Given the description of an element on the screen output the (x, y) to click on. 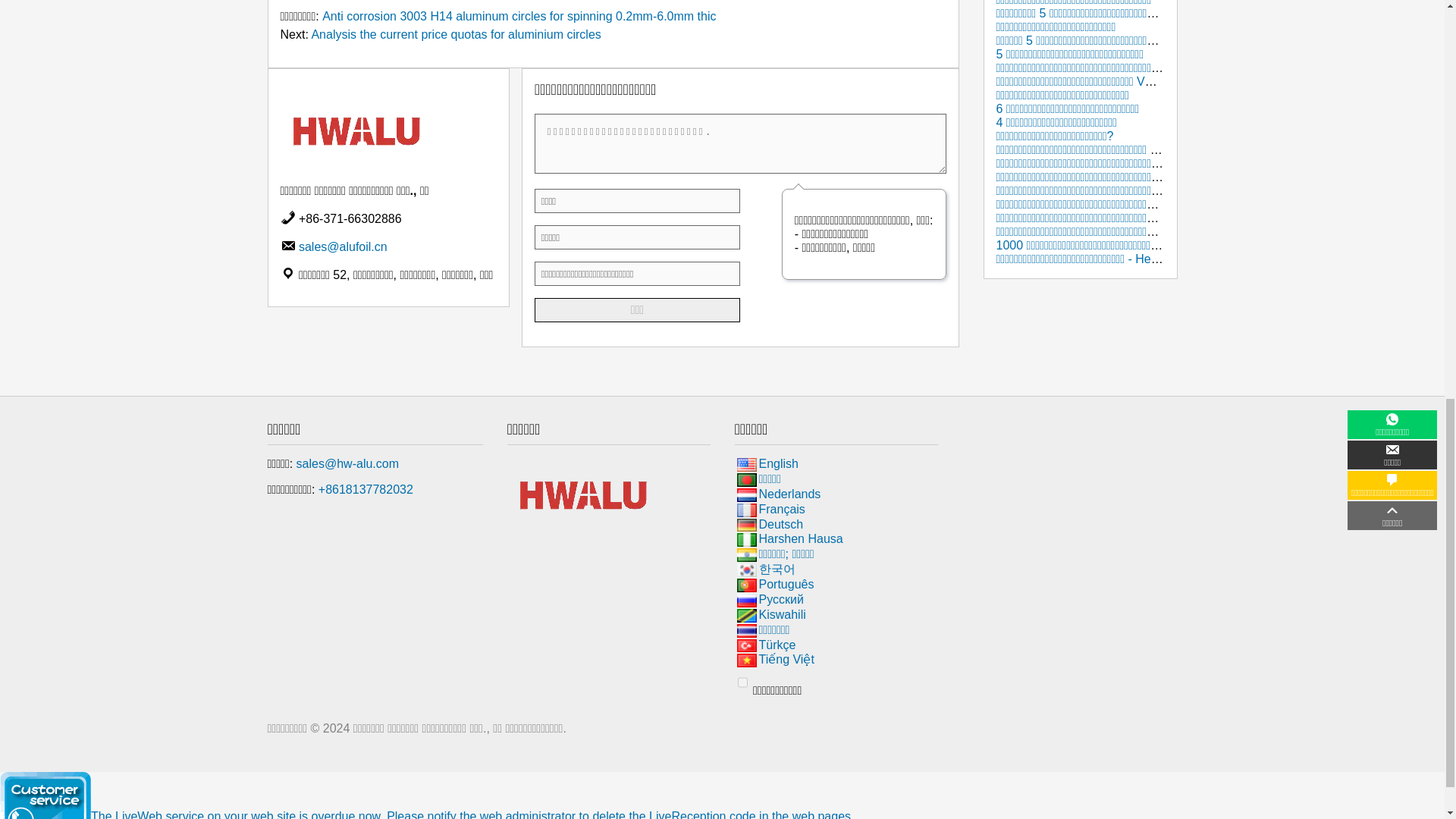
Nederlands (745, 494)
Kiswahili (745, 615)
Deutsch (745, 524)
Harshen Hausa (745, 539)
English (745, 464)
Analysis the current price quotas for aluminium circles (455, 33)
